Given the description of an element on the screen output the (x, y) to click on. 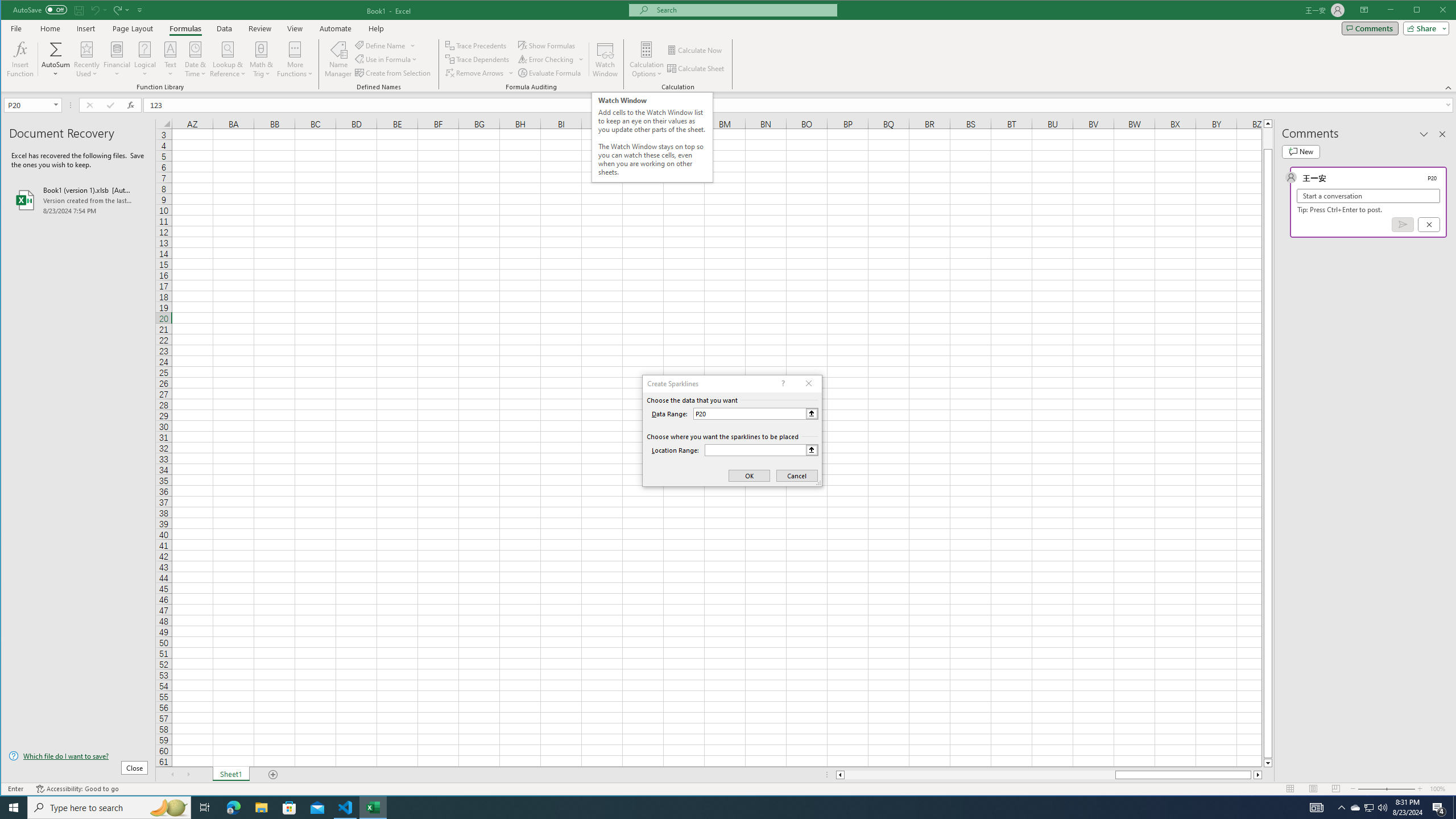
Define Name (385, 45)
Name Manager (338, 59)
Evaluate Formula (550, 72)
